Given the description of an element on the screen output the (x, y) to click on. 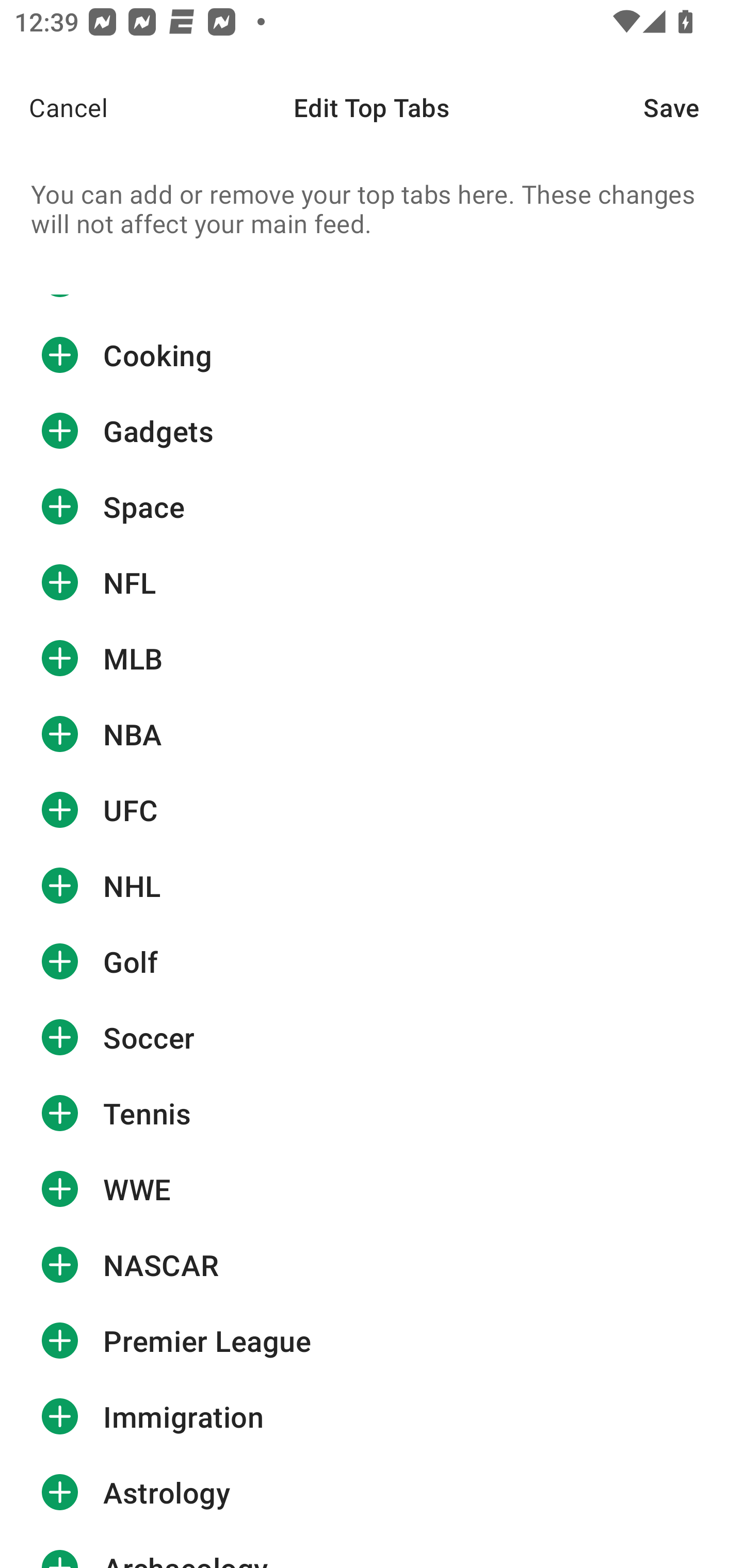
Cancel (53, 106)
Save (693, 106)
Cooking (371, 354)
Gadgets (371, 430)
Space (371, 506)
NFL (371, 582)
MLB (371, 658)
NBA (371, 733)
UFC (371, 809)
NHL (371, 885)
Golf (371, 961)
Soccer (371, 1037)
Tennis (371, 1112)
WWE (371, 1188)
NASCAR (371, 1265)
Premier League (371, 1340)
Immigration (371, 1416)
Astrology (371, 1492)
